Given the description of an element on the screen output the (x, y) to click on. 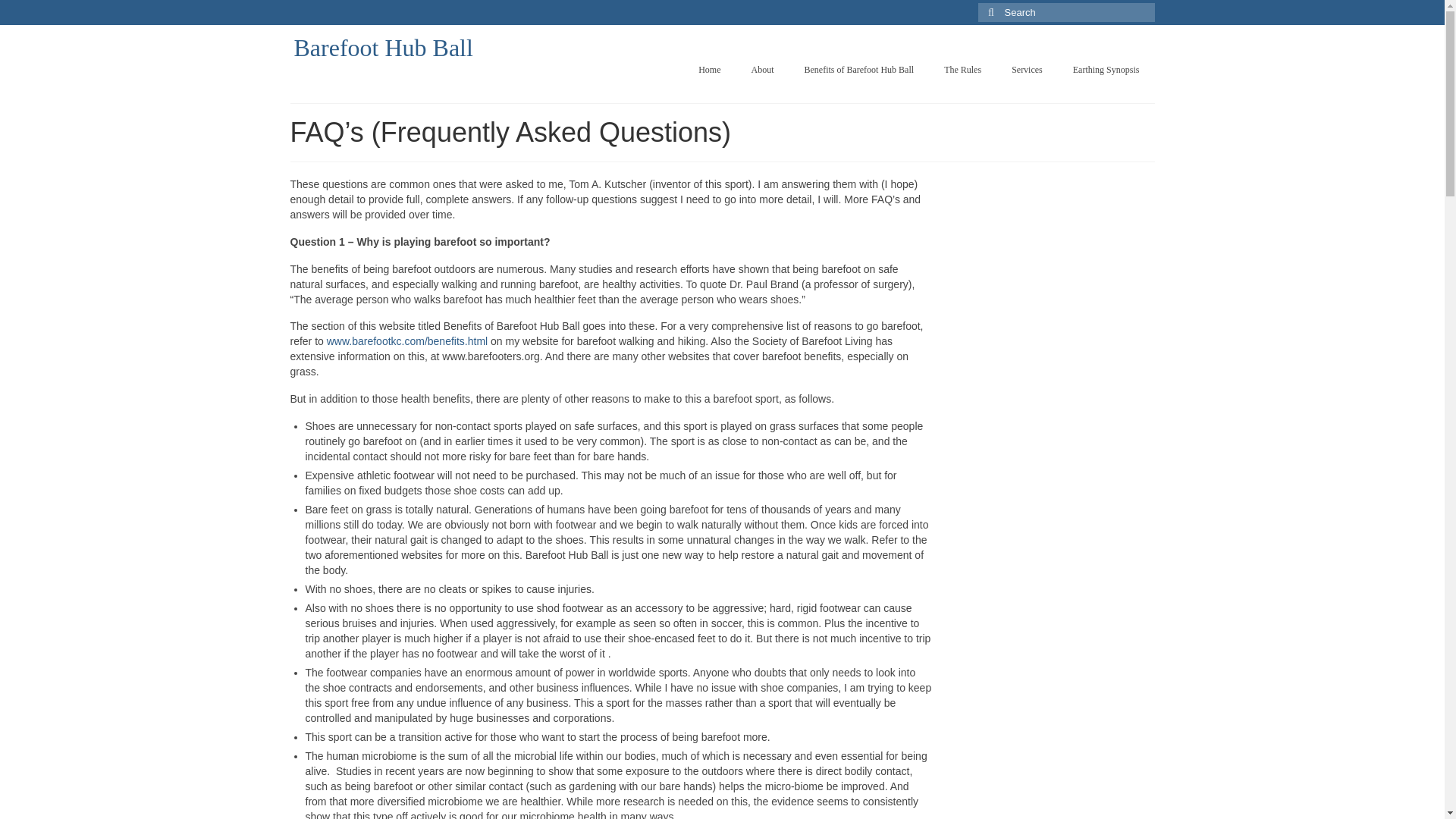
Benefits of Barefoot Hub Ball (858, 69)
Barefoot Hub Ball (383, 47)
Earthing Synopsis (1106, 69)
Services (1026, 69)
About (762, 69)
Home (708, 69)
The Rules (961, 69)
